Given the description of an element on the screen output the (x, y) to click on. 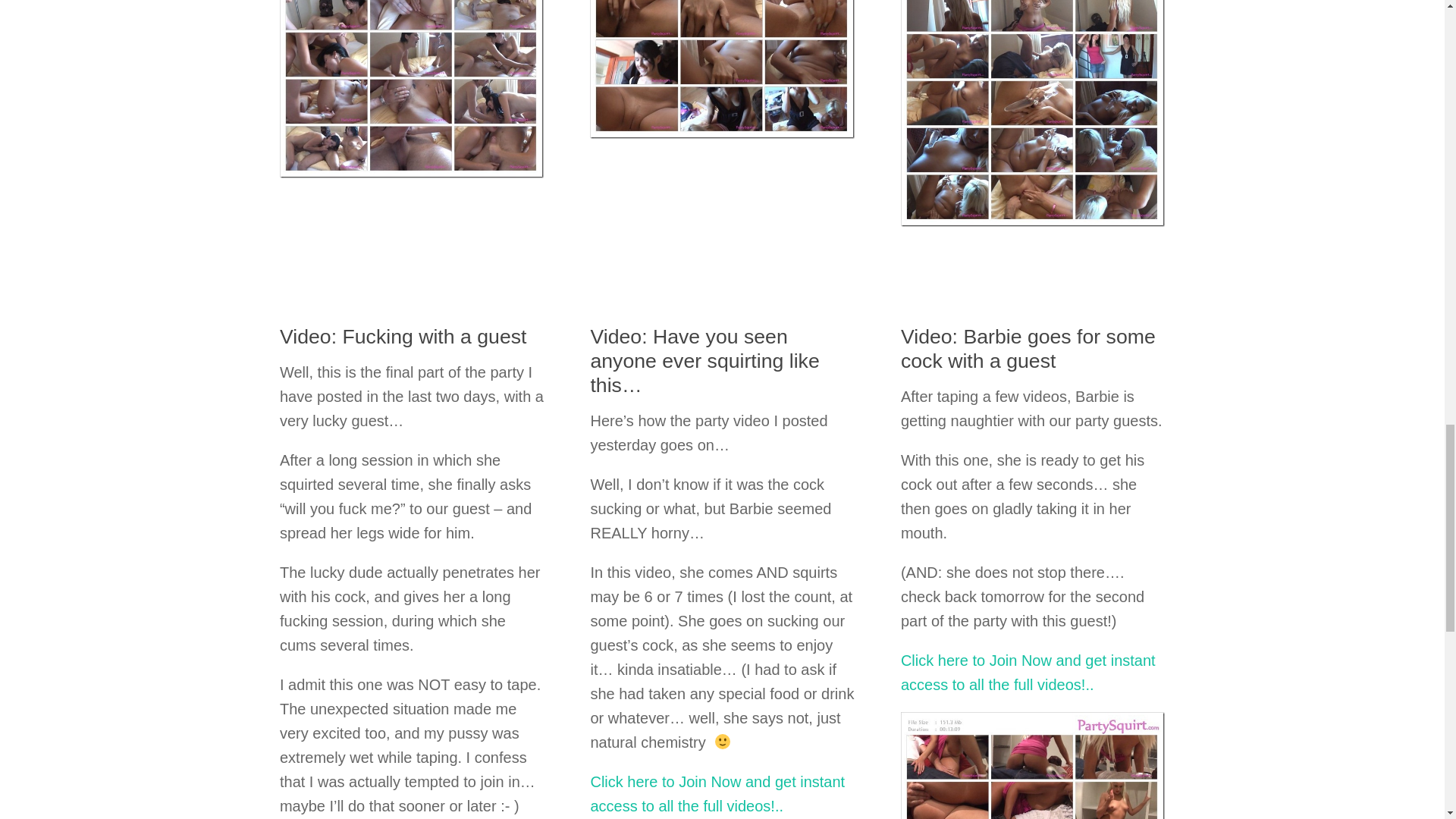
Video: Barbie goes for some cock with a guest (1028, 348)
Video: Fucking with a guest (403, 336)
